Given the description of an element on the screen output the (x, y) to click on. 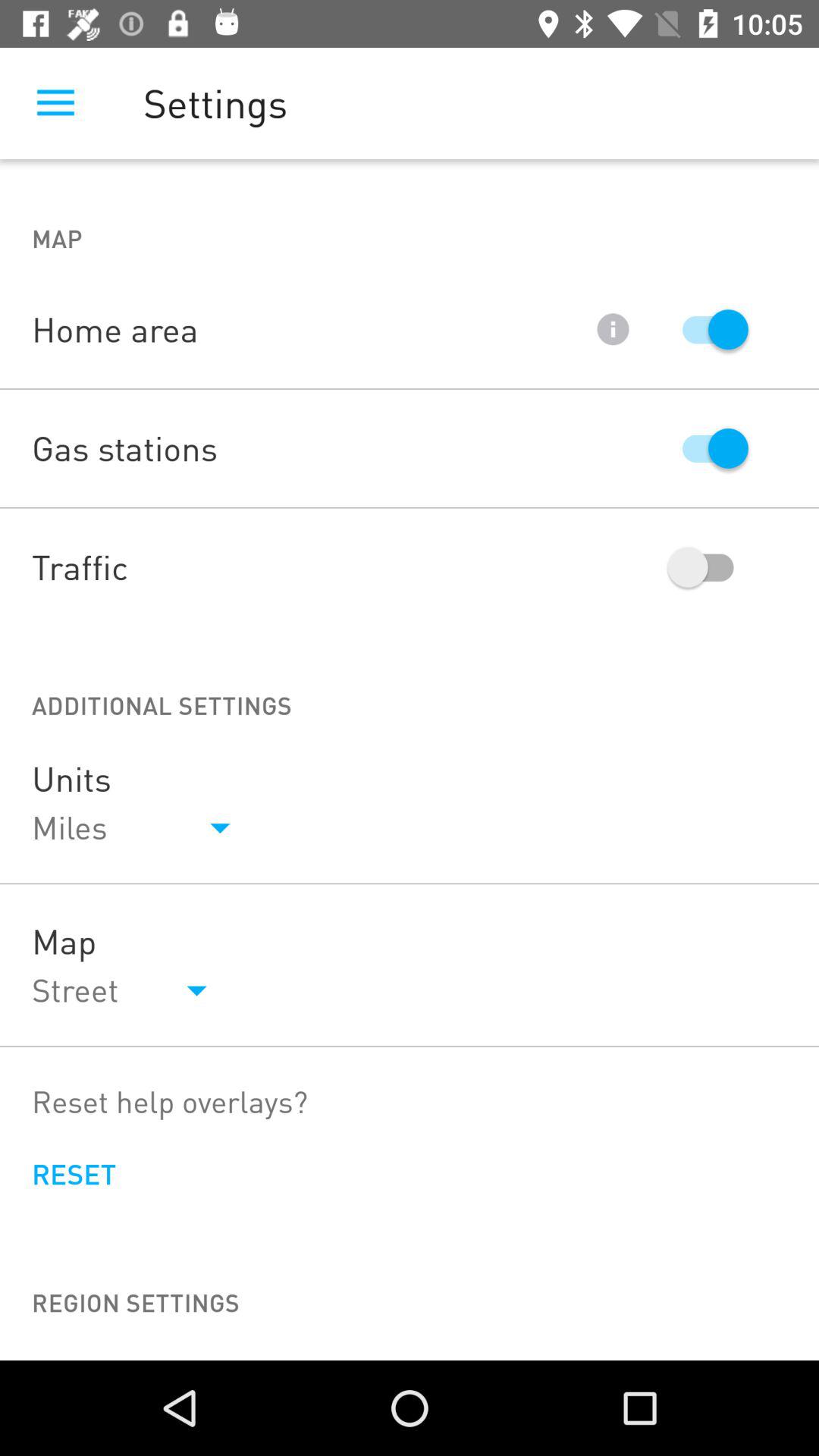
toggle traffic option (707, 567)
